Given the description of an element on the screen output the (x, y) to click on. 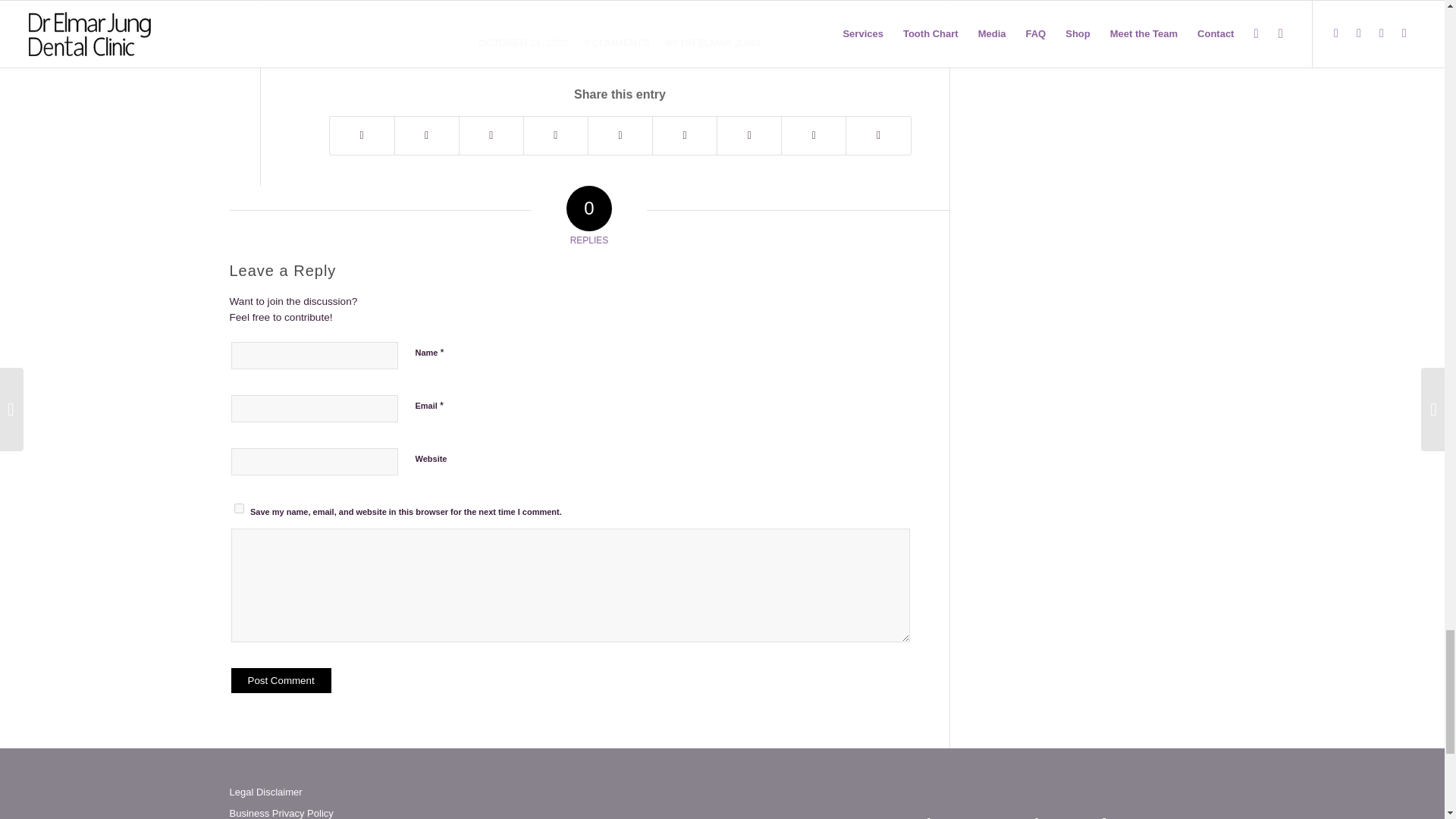
Post Comment (280, 680)
Posts by Dr Elmar Jung (721, 42)
yes (237, 508)
